Given the description of an element on the screen output the (x, y) to click on. 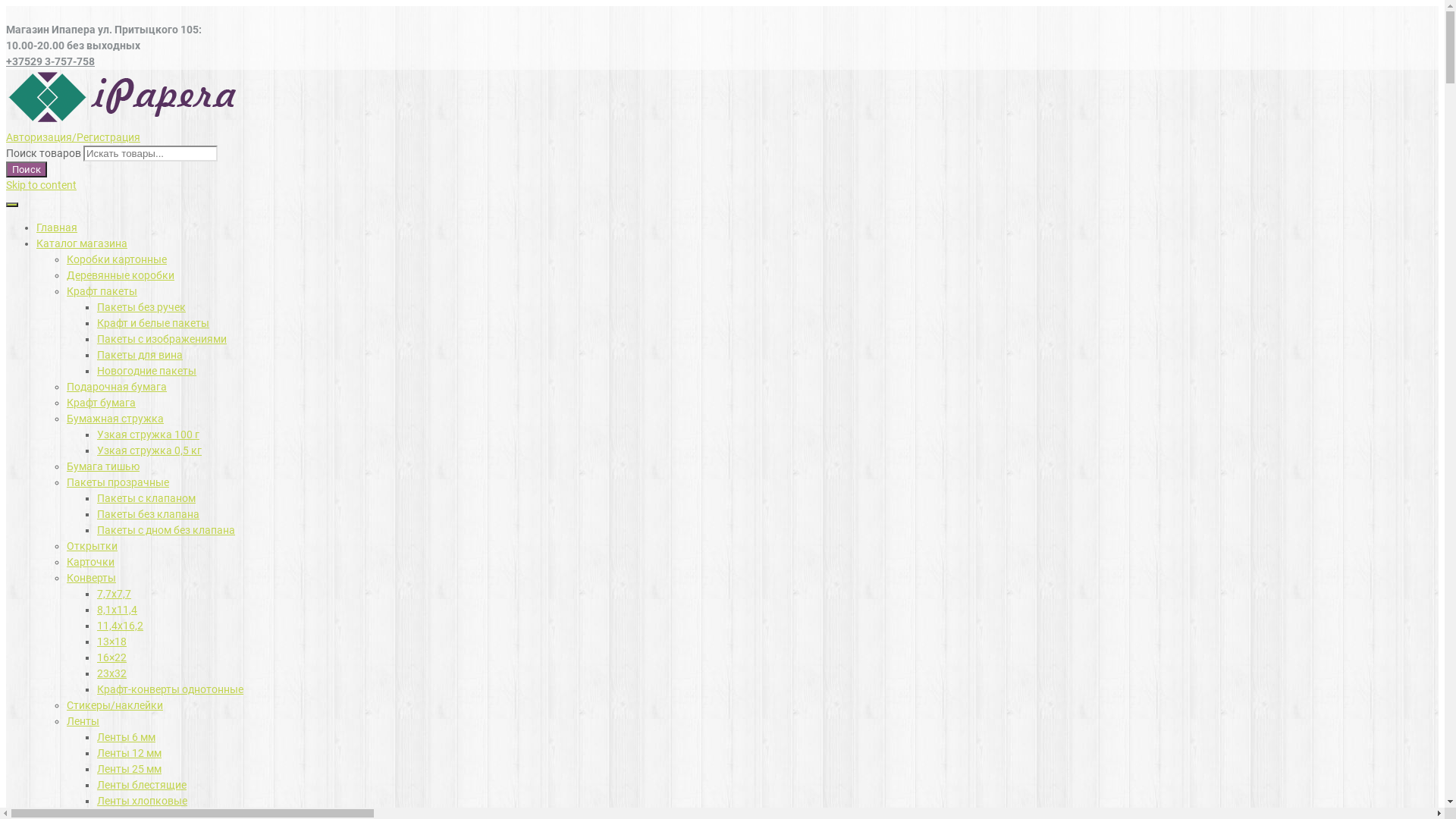
+37529 3-757-758 Element type: text (50, 61)
Skip to content Element type: text (41, 184)
